Given the description of an element on the screen output the (x, y) to click on. 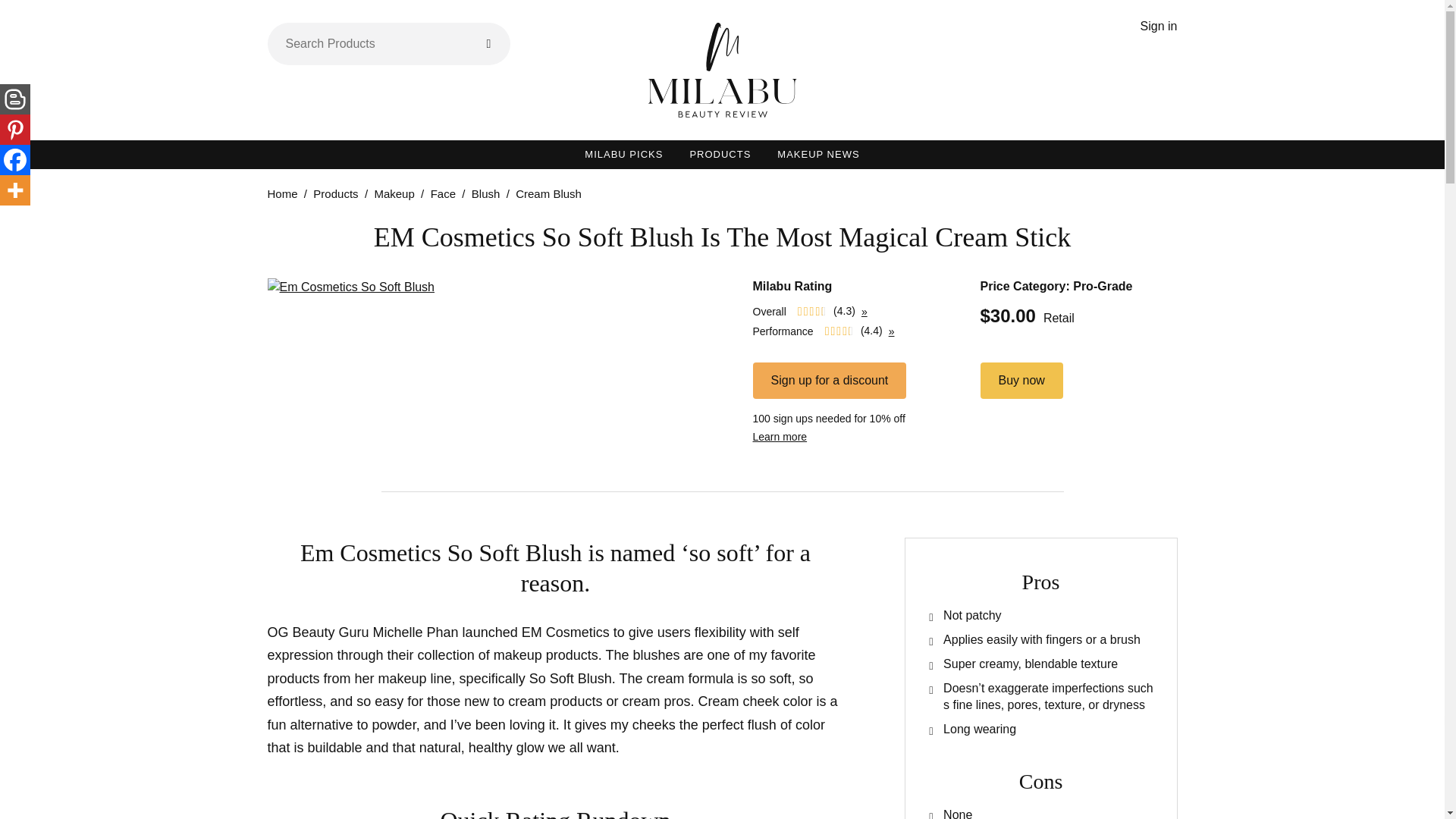
More (15, 190)
MILABU PICKS (623, 154)
Sign in (1158, 26)
PRODUCTS (719, 154)
Submit (488, 43)
Pinterest (15, 129)
Facebook (15, 159)
Blogger Post (15, 99)
